Given the description of an element on the screen output the (x, y) to click on. 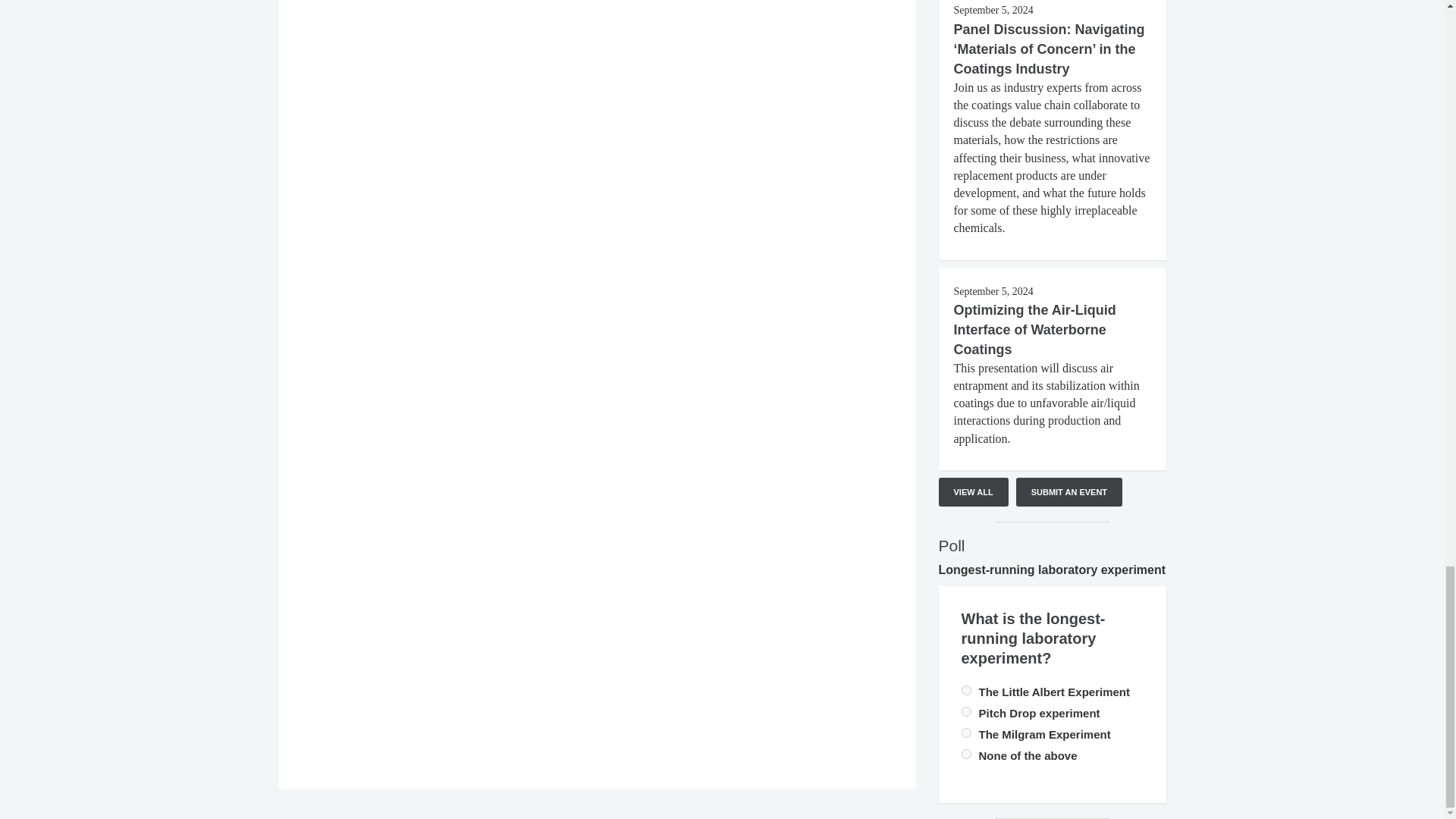
Optimizing the Air-Liquid Interface of Waterborne Coatings (1034, 329)
230 (965, 711)
232 (965, 732)
231 (965, 754)
233 (965, 690)
